Given the description of an element on the screen output the (x, y) to click on. 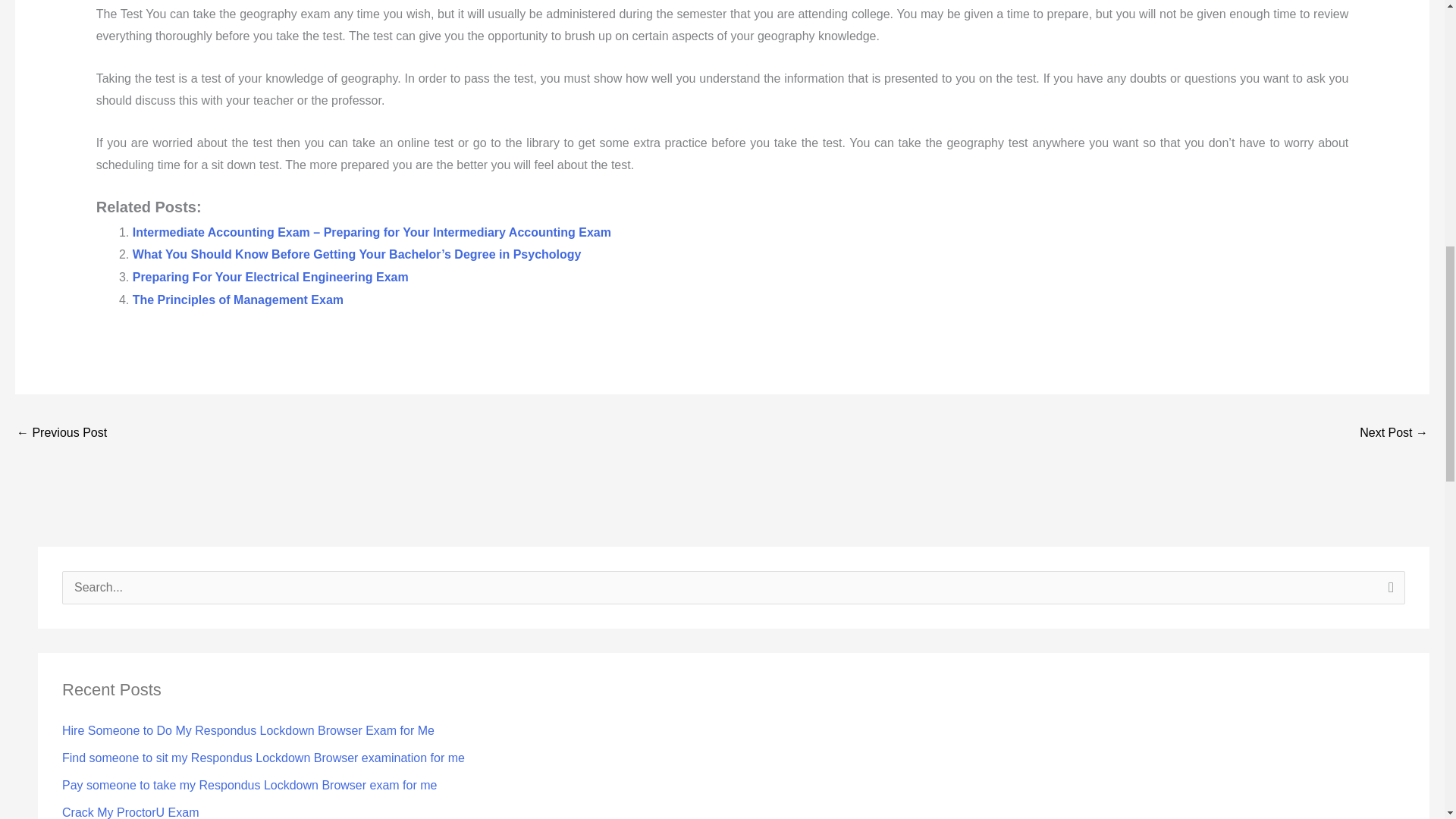
Crack My ProctorU Exam (130, 812)
How to Prepare For the Economic Exam (1393, 433)
Preparing For Your Electrical Engineering Exam (270, 277)
Search (1388, 591)
Search (1388, 591)
The Principles of Management Exam (237, 299)
How to Become a Dental Assistant (61, 433)
Hire Someone to Do My Respondus Lockdown Browser Exam for Me (247, 730)
Preparing For Your Electrical Engineering Exam (270, 277)
The Principles of Management Exam (237, 299)
Search (1388, 591)
